Given the description of an element on the screen output the (x, y) to click on. 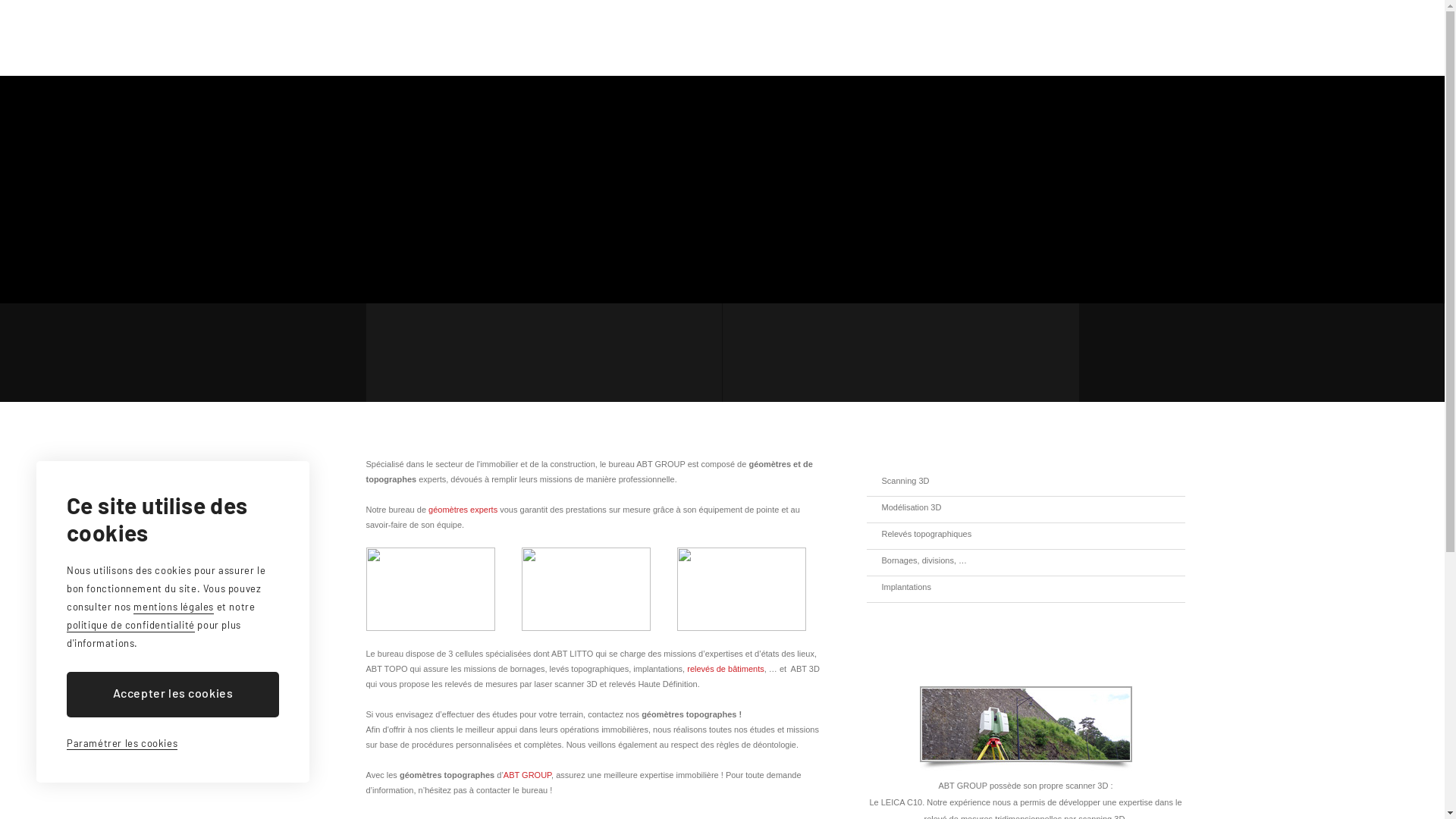
ABT Group Element type: text (423, 37)
Implantations Element type: text (979, 586)
ABT 3D - Scanning 3D Element type: text (899, 352)
Scanning 3D Element type: text (979, 480)
ABT GROUP Element type: text (527, 774)
